Given the description of an element on the screen output the (x, y) to click on. 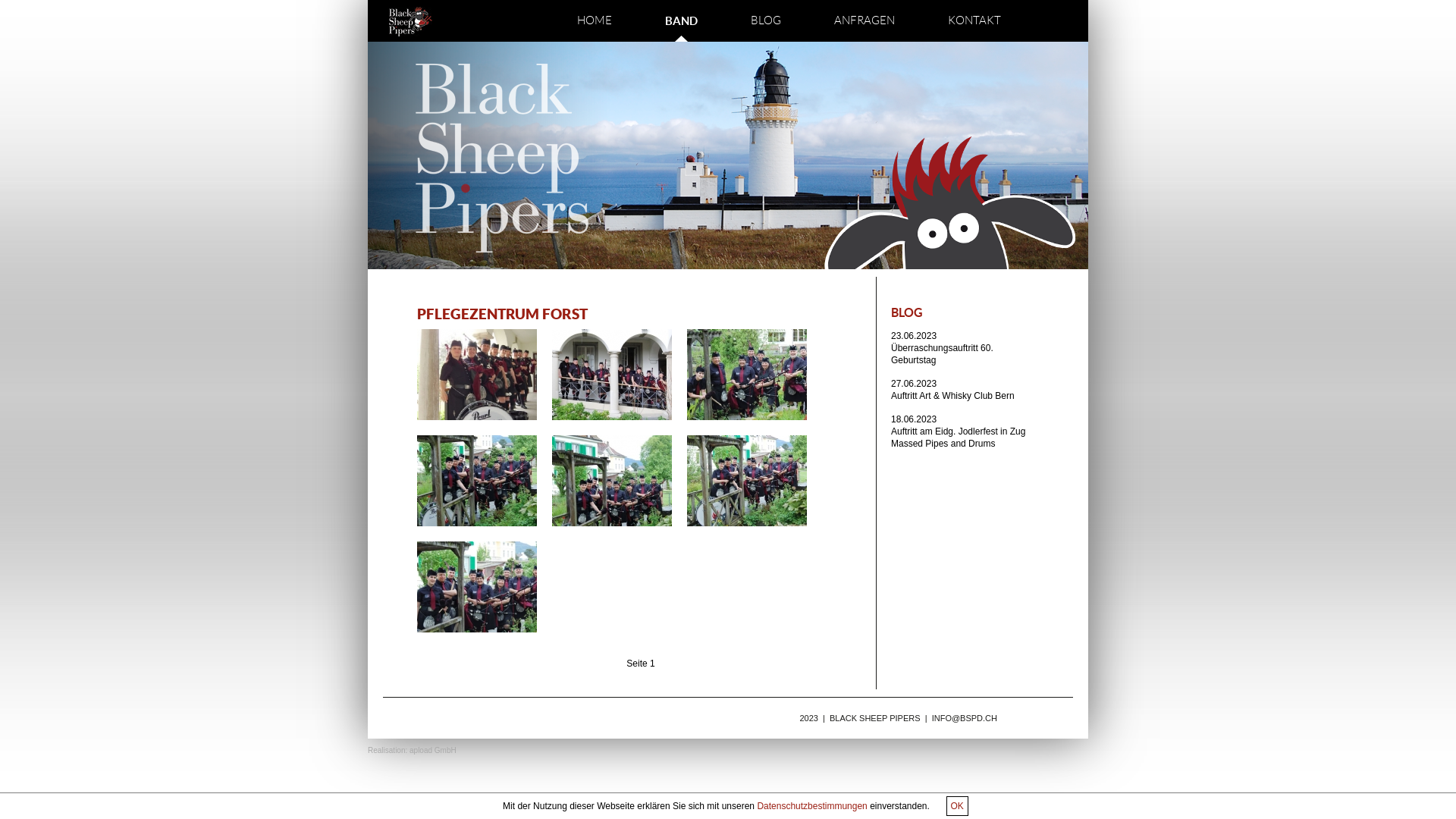
OK Element type: text (957, 805)
Auftritt am Eidg. Jodlerfest in Zug Element type: text (958, 426)
BAND Element type: text (681, 20)
Datenschutzbestimmungen Element type: text (811, 805)
BLOG Element type: text (906, 312)
KONTAKT Element type: text (974, 20)
Realisation: apload GmbH Element type: text (411, 750)
INFO@BSPD.CH Element type: text (964, 717)
BLOG Element type: text (765, 20)
HOME Element type: text (594, 20)
Auftritt Art & Whisky Club Bern Element type: text (952, 391)
Home - Black Sheep Pipers Element type: hover (410, 21)
ANFRAGEN Element type: text (864, 20)
